Given the description of an element on the screen output the (x, y) to click on. 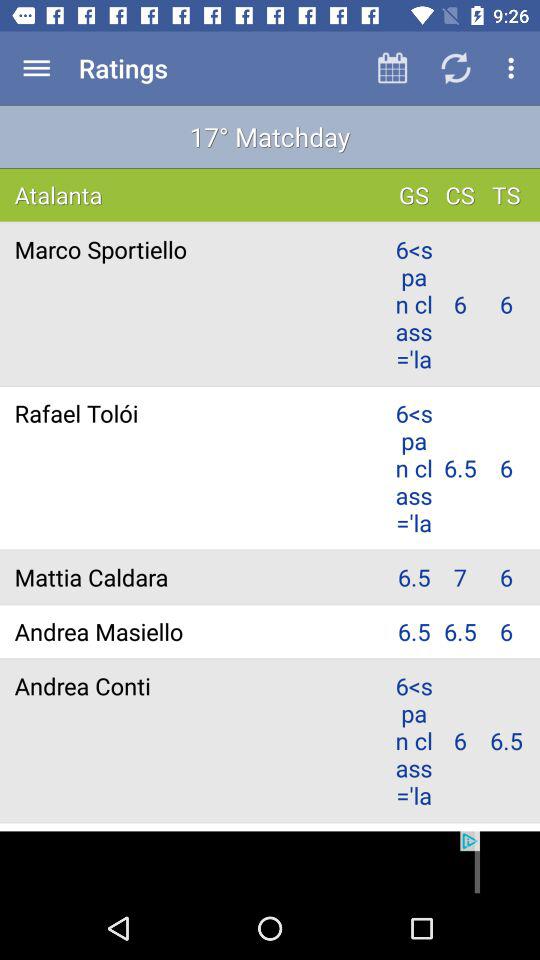
advertisements to click (270, 864)
